Given the description of an element on the screen output the (x, y) to click on. 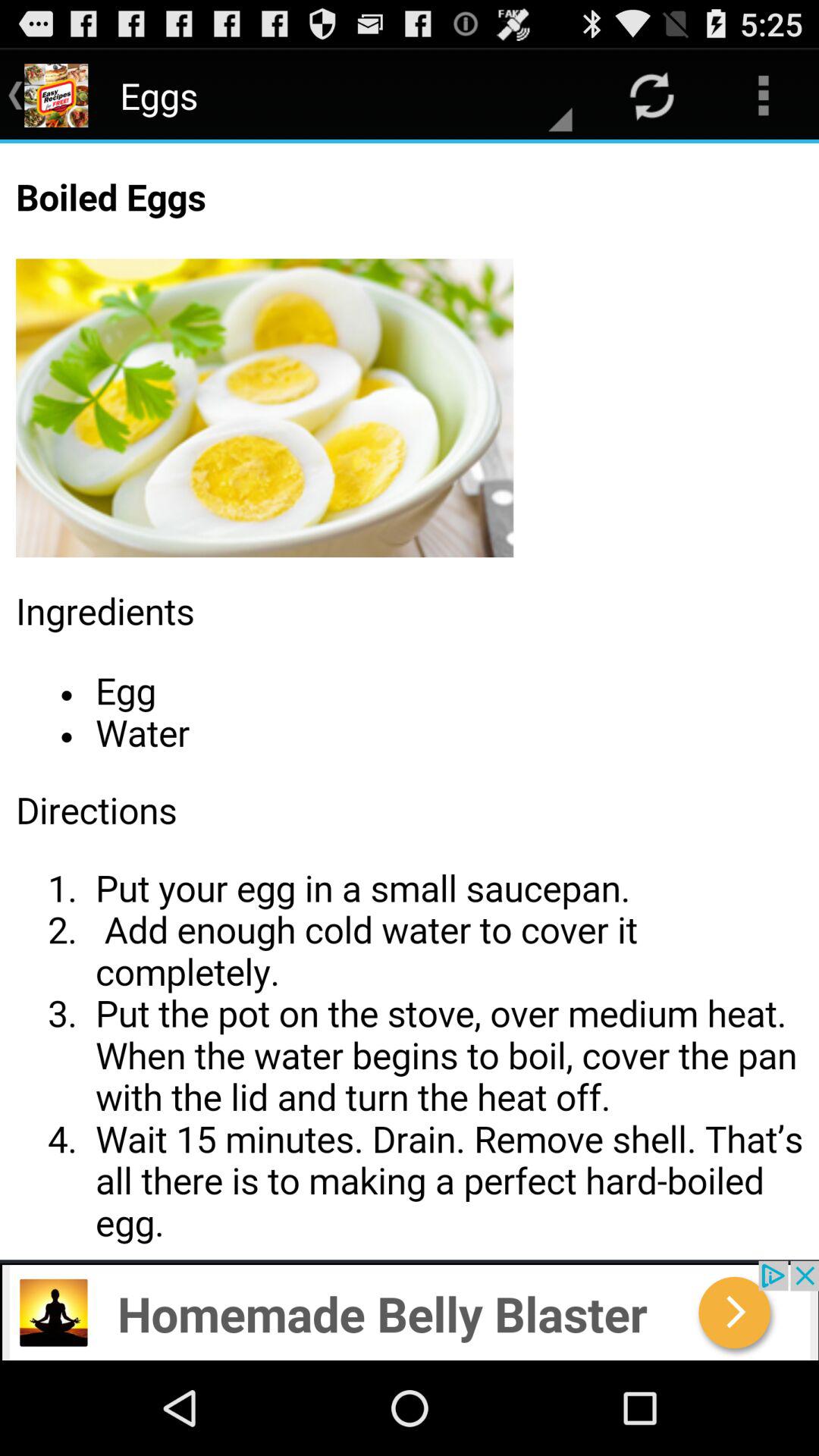
advertiser banner (409, 1310)
